Given the description of an element on the screen output the (x, y) to click on. 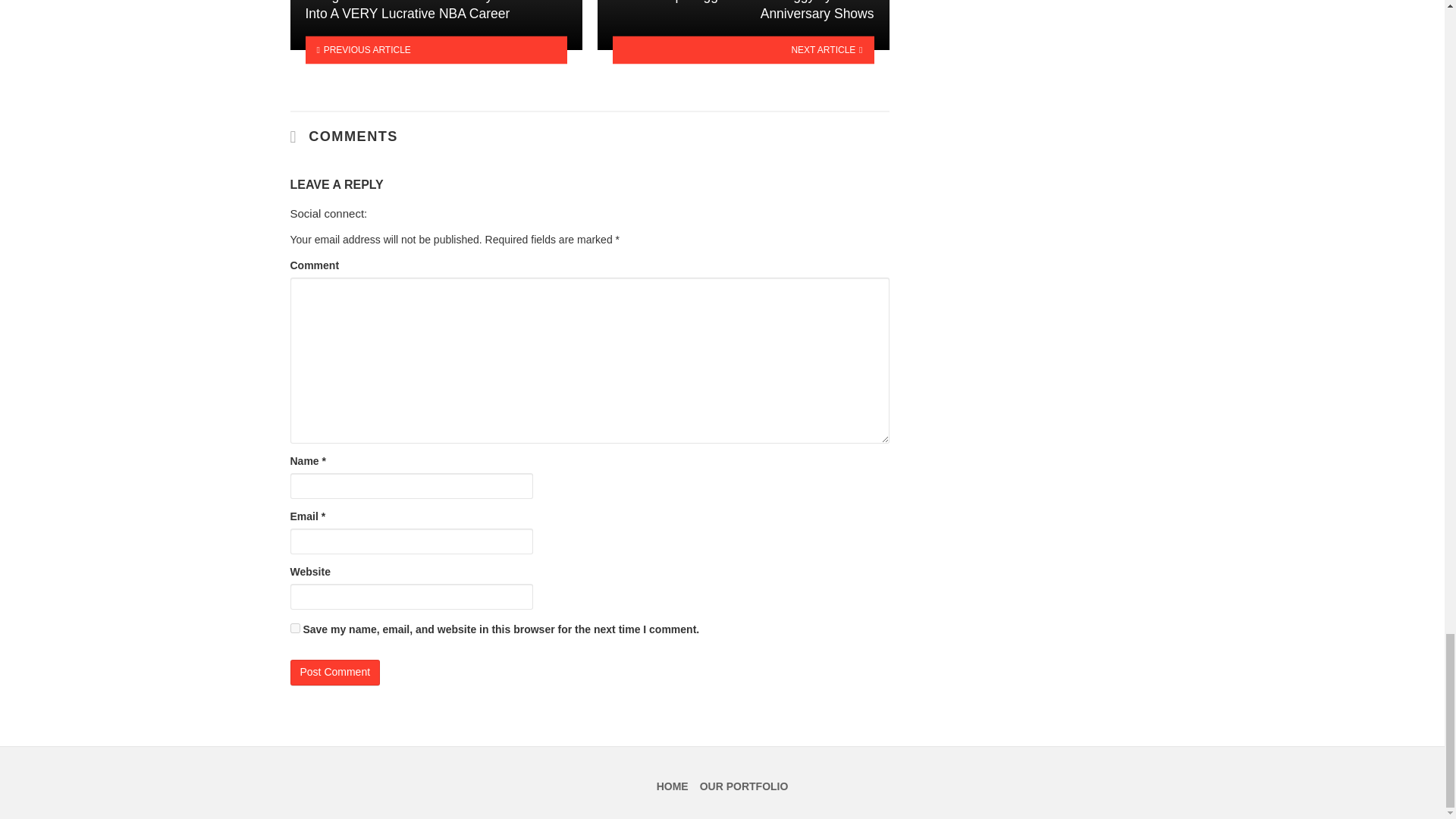
yes (294, 628)
Post Comment (334, 672)
